Given the description of an element on the screen output the (x, y) to click on. 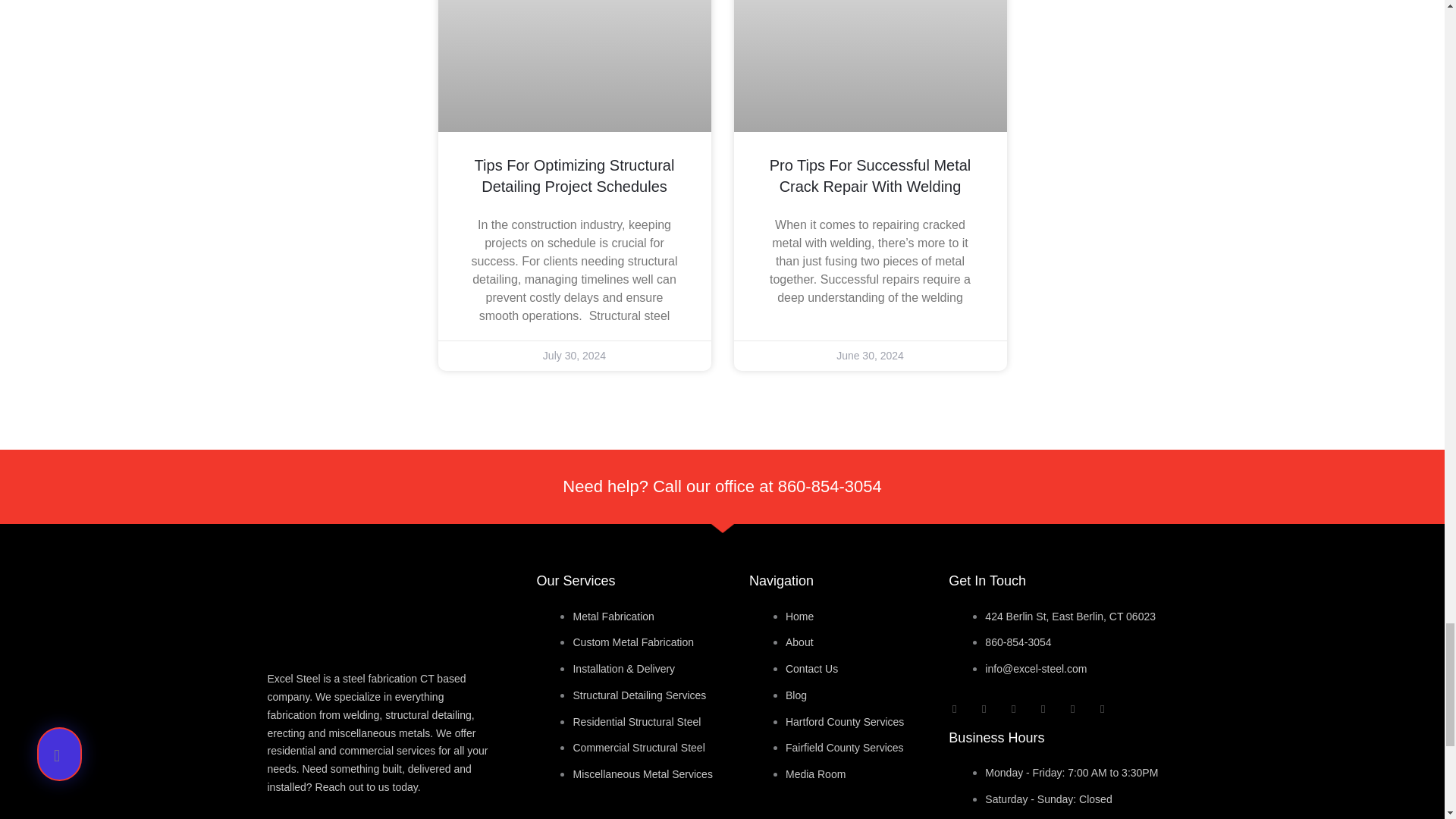
Pro Tips For Successful Metal Crack Repair With Welding (870, 175)
Tips For Optimizing Structural Detailing Project Schedules (574, 175)
Custom Metal Fabrication (633, 642)
Need help? Call our office at 860-854-3054 (721, 486)
Metal Fabrication (612, 616)
Structural Detailing Services (639, 695)
